Given the description of an element on the screen output the (x, y) to click on. 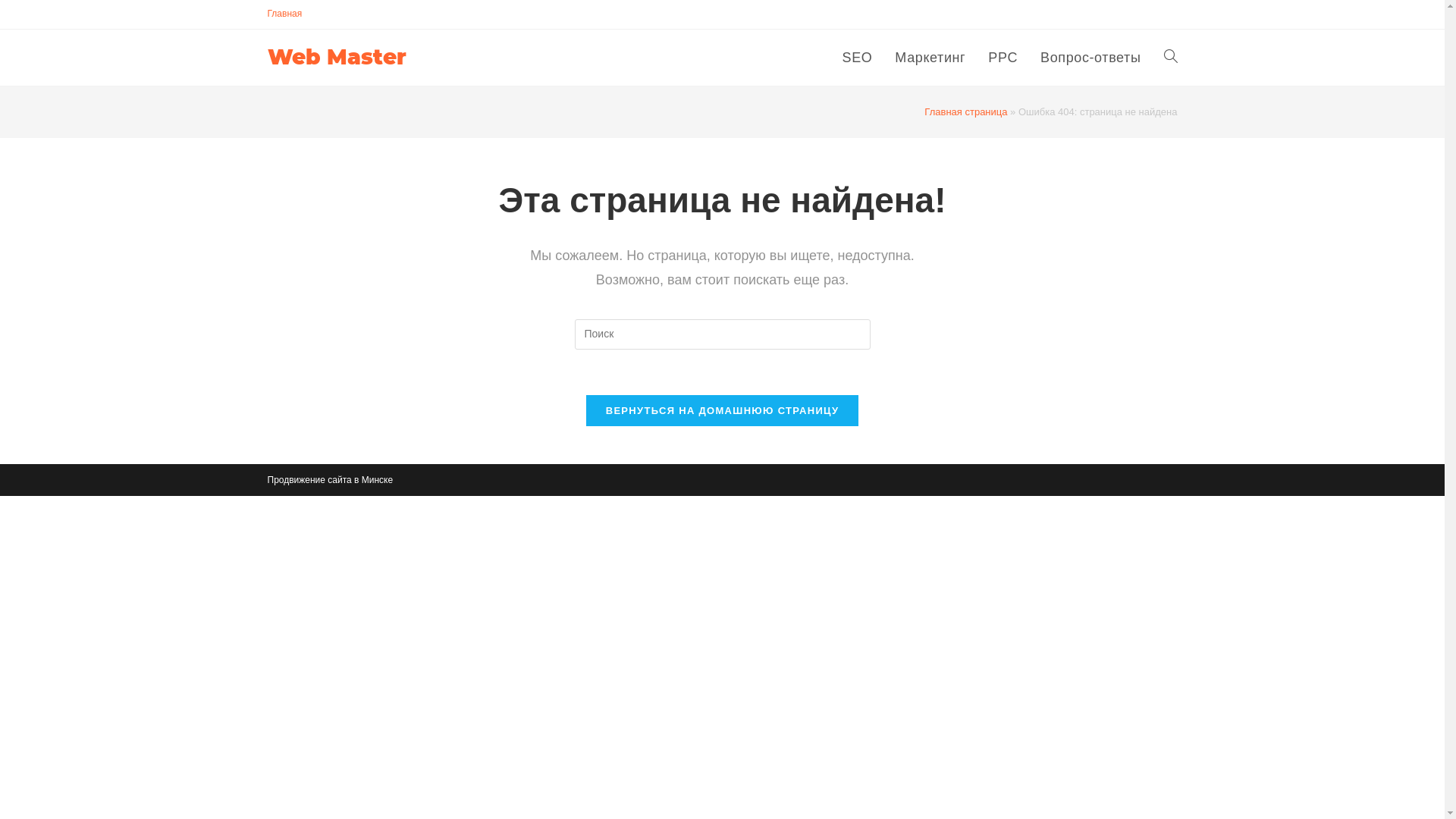
Web Master Element type: text (335, 56)
PPC Element type: text (1002, 57)
SEO Element type: text (857, 57)
